Given the description of an element on the screen output the (x, y) to click on. 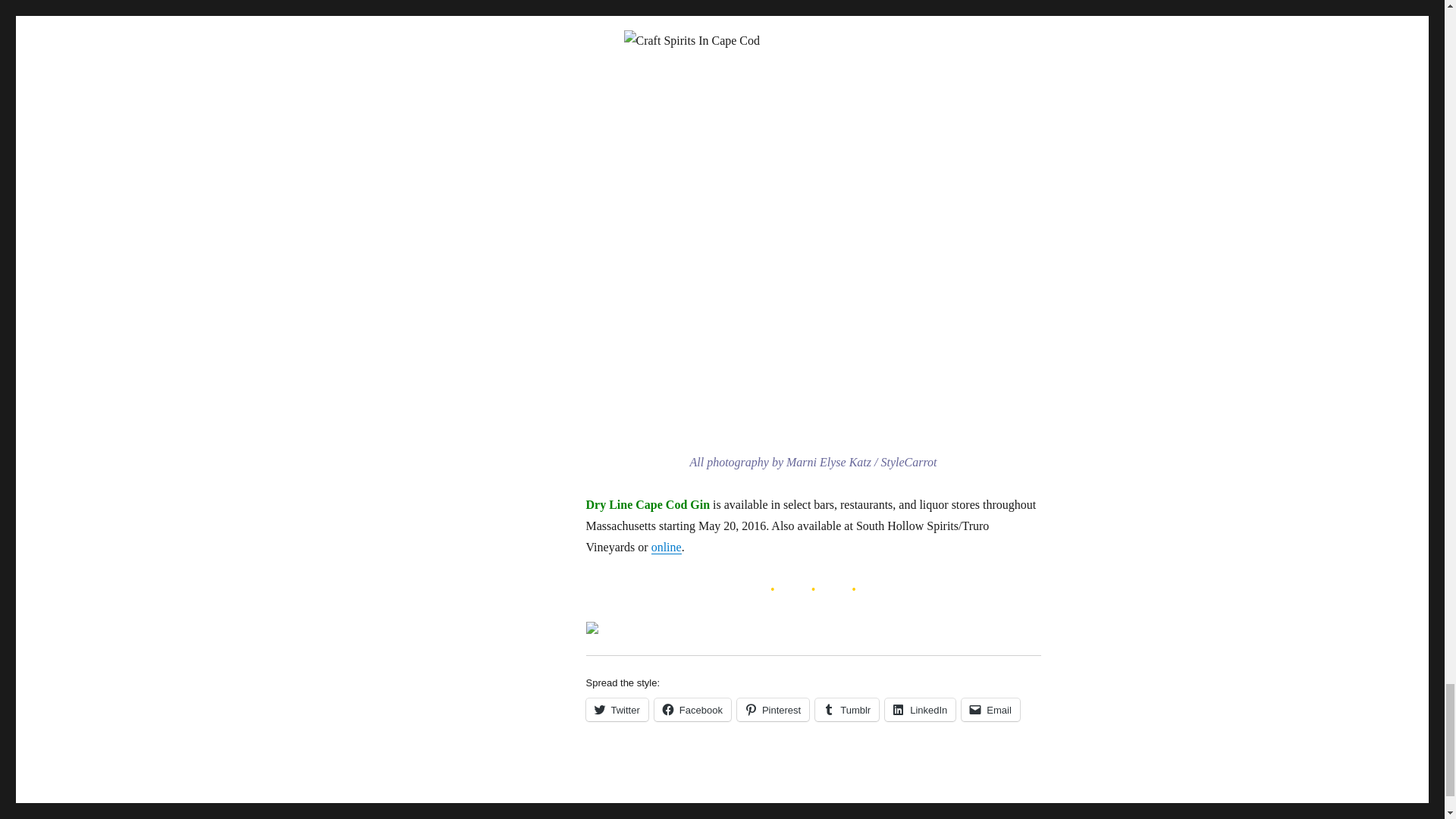
Click to share on Tumblr (847, 709)
online (665, 546)
Facebook (691, 709)
LinkedIn (920, 709)
Click to share on LinkedIn (920, 709)
Click to email a link to a friend (990, 709)
Click to share on Pinterest (772, 709)
Tumblr (847, 709)
Click to share on Twitter (616, 709)
Email (990, 709)
